Given the description of an element on the screen output the (x, y) to click on. 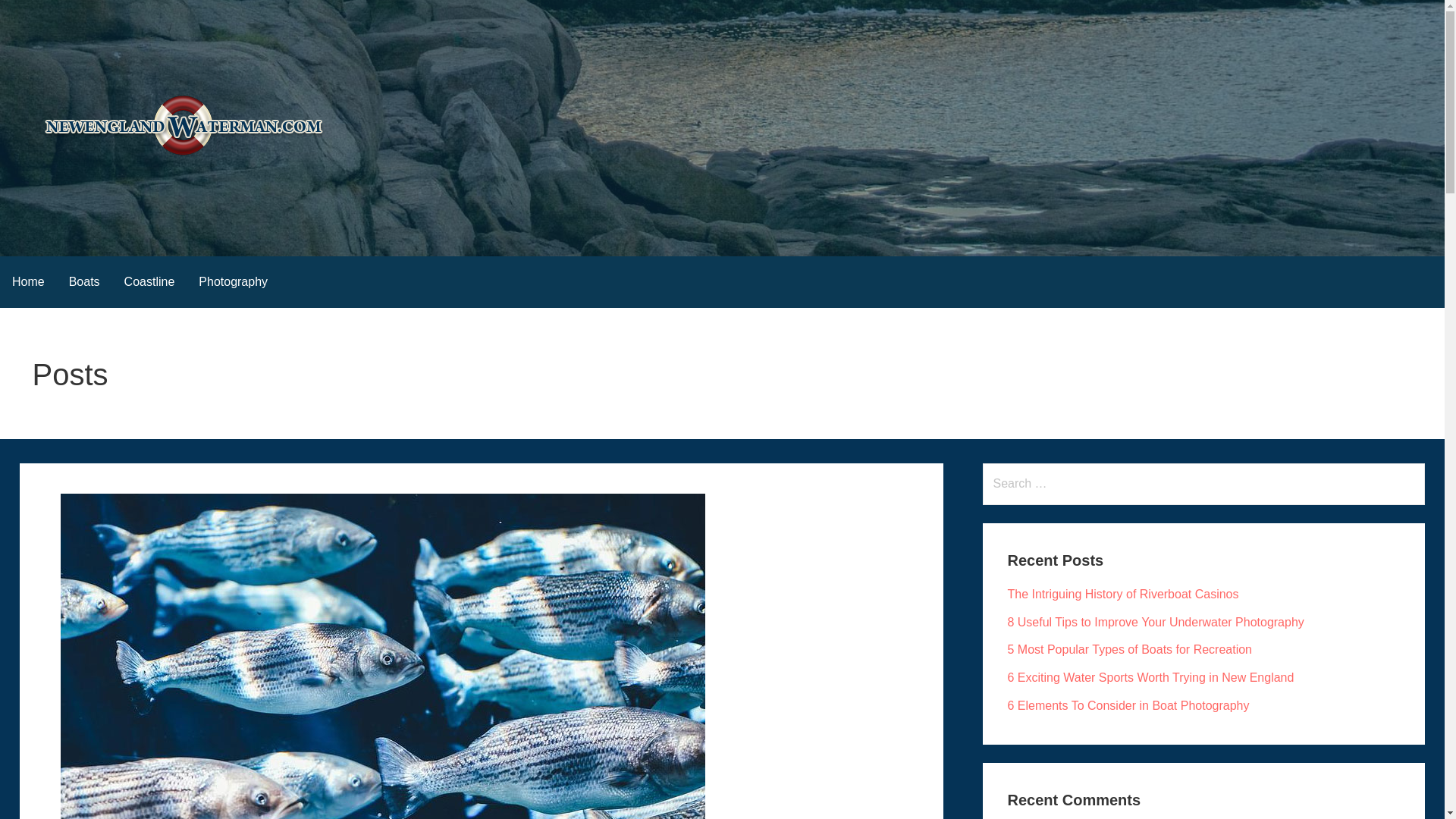
Home (28, 281)
6 Elements To Consider in Boat Photography (1128, 705)
The Intriguing History of Riverboat Casinos (1123, 594)
Boats (84, 281)
6 Exciting Water Sports Worth Trying in New England (1150, 676)
5 Most Popular Types of Boats for Recreation (1129, 649)
8 Useful Tips to Improve Your Underwater Photography (1155, 621)
Photography (232, 281)
newenglandwaterman.com (179, 188)
